Given the description of an element on the screen output the (x, y) to click on. 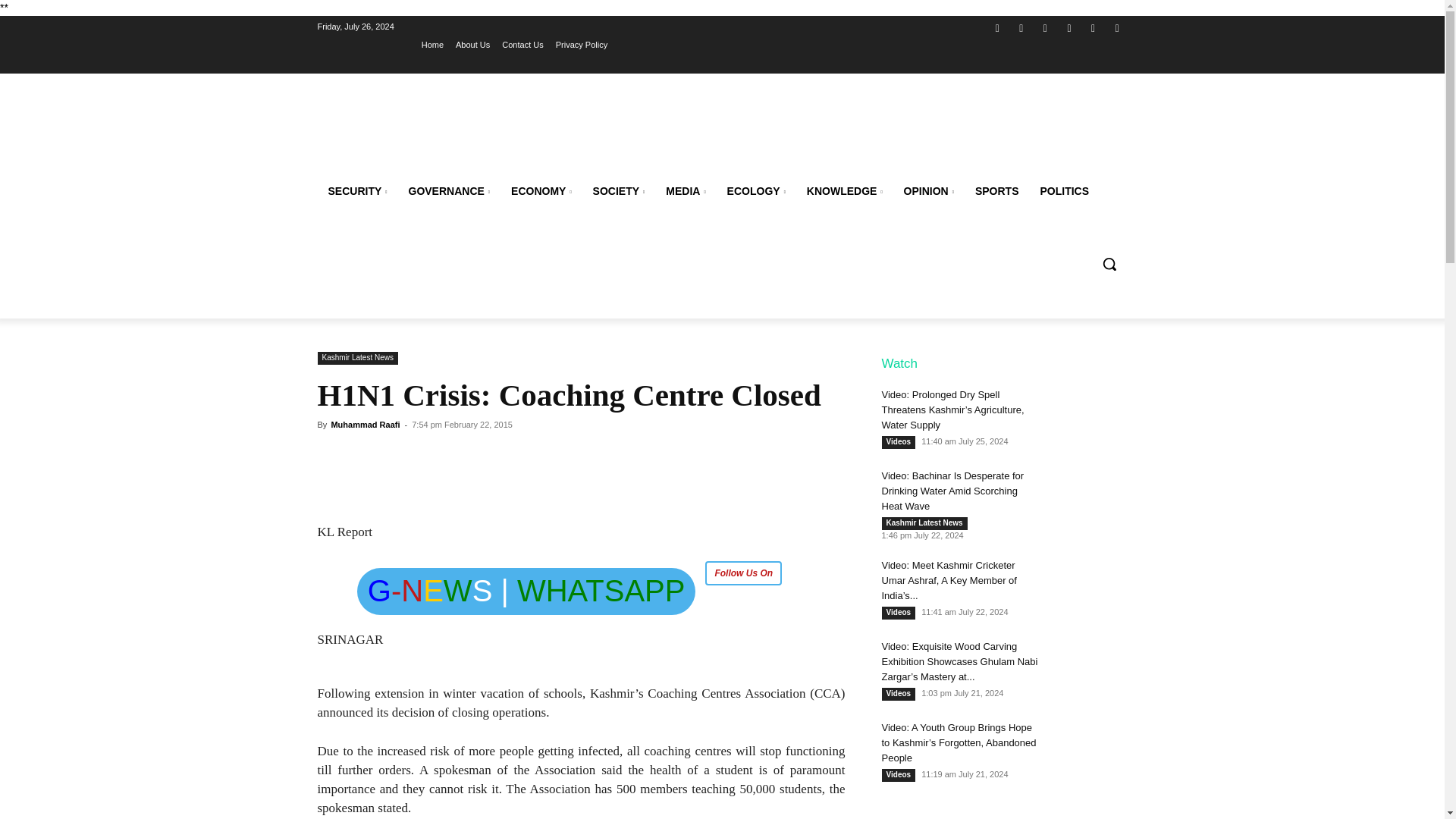
Facebook (997, 28)
Twitter (1045, 28)
Youtube (1116, 28)
WhatsApp (1093, 28)
Instagram (1021, 28)
Website (1069, 28)
